Given the description of an element on the screen output the (x, y) to click on. 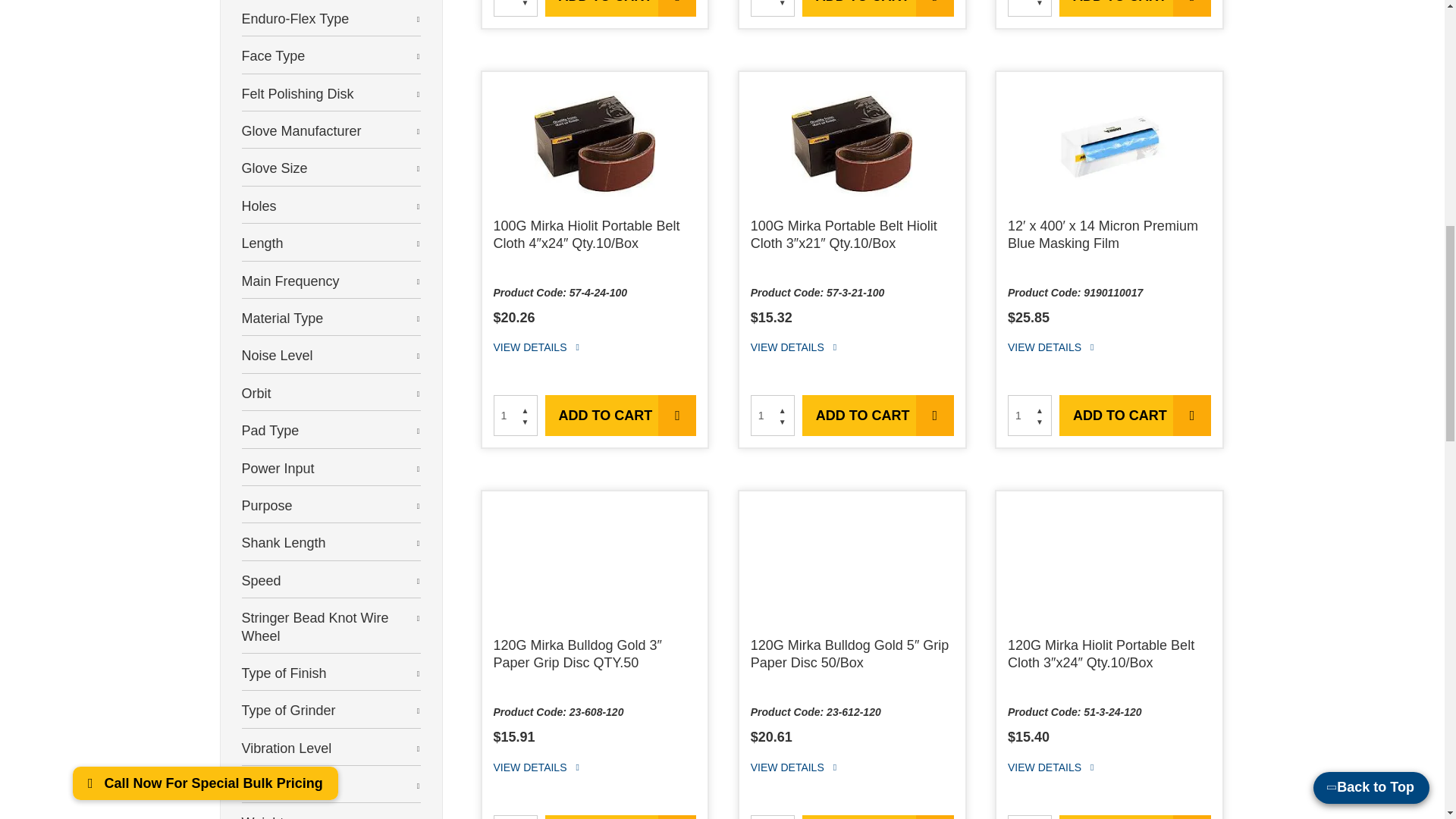
1 (772, 414)
1 (1029, 816)
1 (515, 816)
1 (772, 816)
1 (1029, 8)
1 (515, 414)
1 (1029, 414)
1 (772, 8)
1 (515, 8)
